Given the description of an element on the screen output the (x, y) to click on. 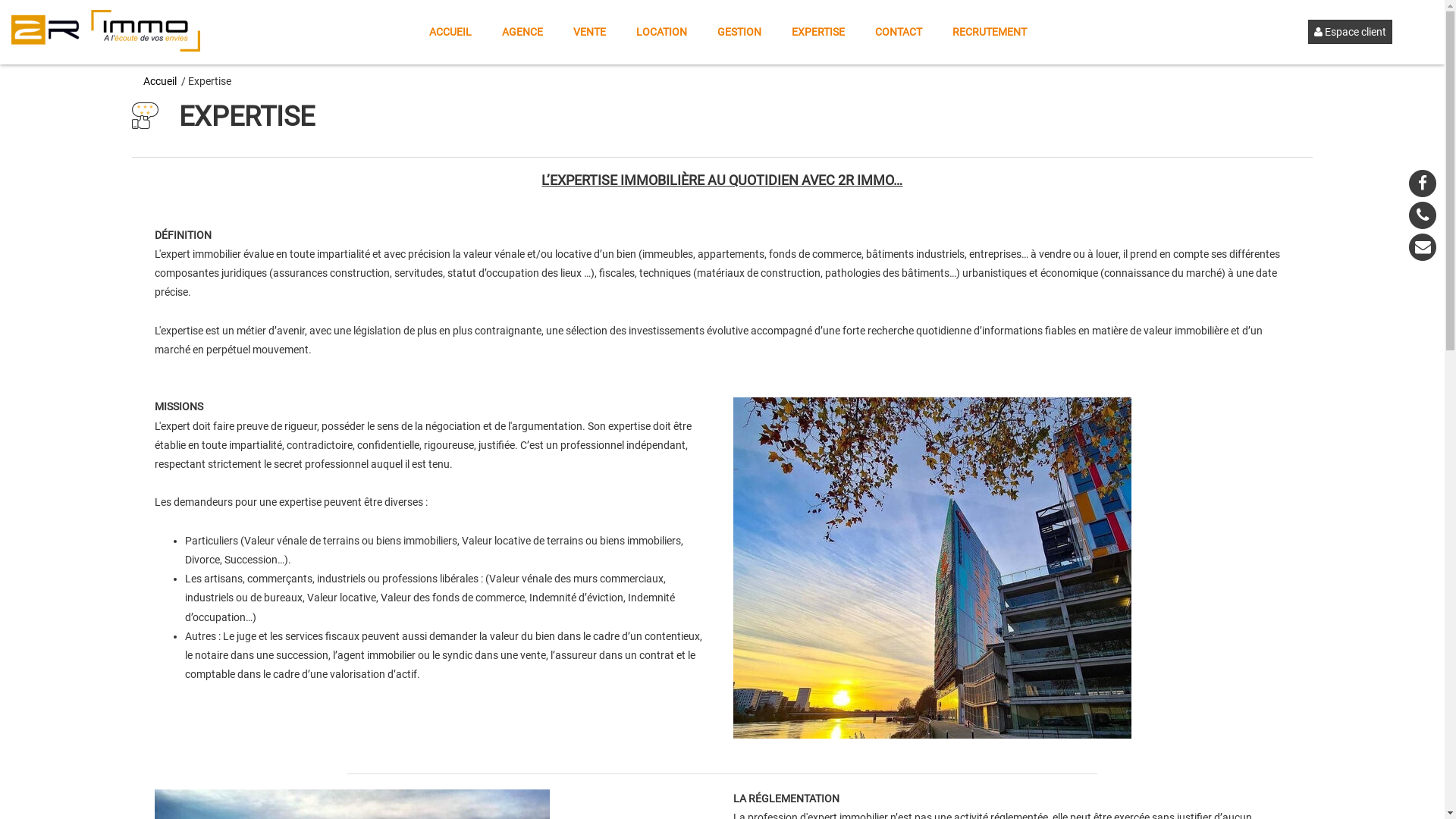
ACCUEIL Element type: text (450, 32)
EXPERTISE Element type: text (817, 32)
VENTE Element type: text (589, 32)
GESTION Element type: text (739, 32)
AGENCE Element type: text (522, 32)
Espace client Element type: text (1376, 31)
LOCATION Element type: text (661, 32)
Accueil   Element type: text (162, 81)
CONTACT Element type: text (898, 32)
RECRUTEMENT Element type: text (989, 32)
